Given the description of an element on the screen output the (x, y) to click on. 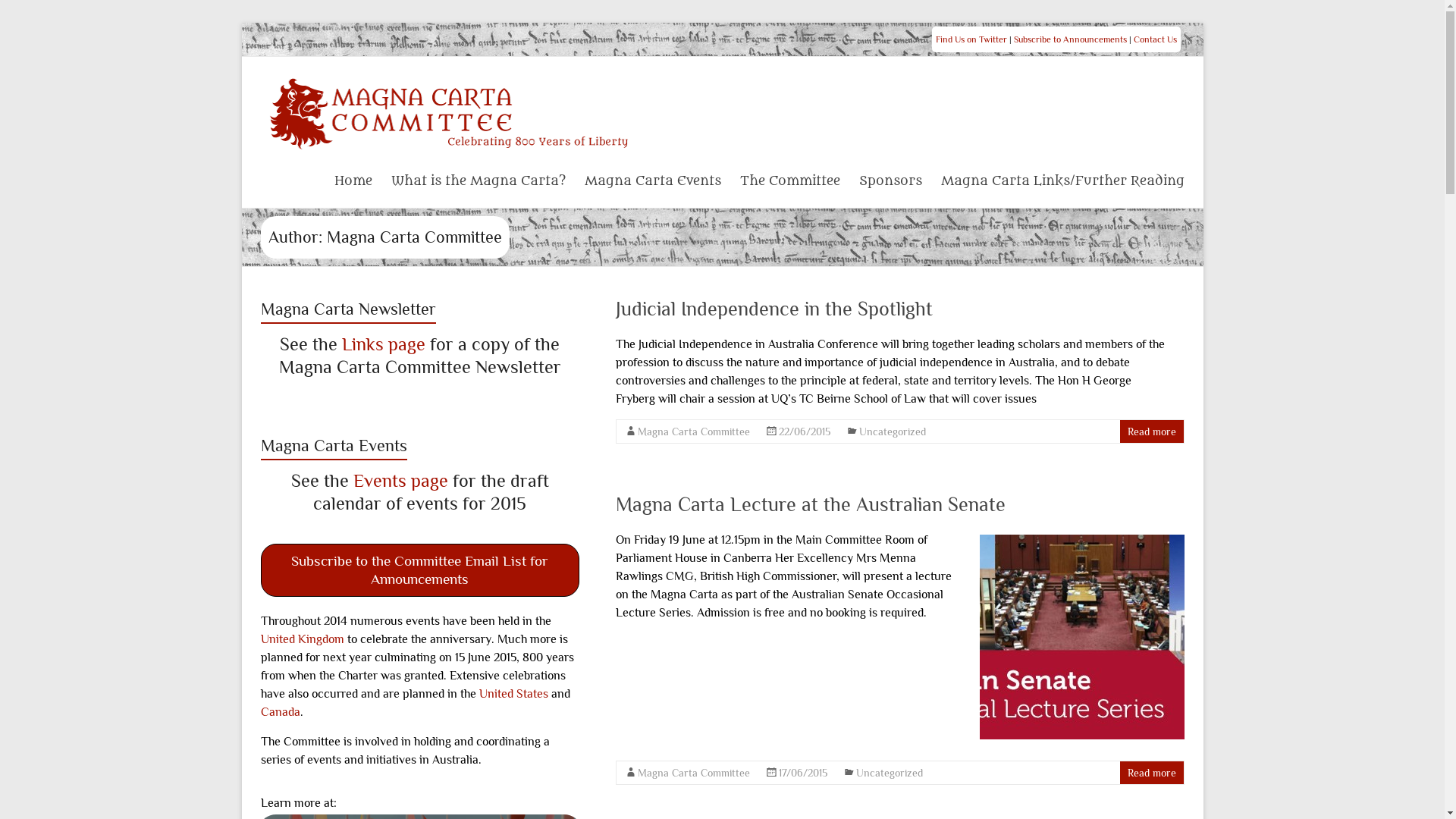
Magna Carta Committee Element type: text (693, 772)
What is the Magna Carta? Element type: text (478, 178)
Magna Carta Lecture at the Australian Senate Element type: text (810, 504)
Home Element type: text (352, 178)
United States Element type: text (513, 693)
Magna Carta Lecture at the Australian Senate Element type: hover (1081, 640)
Uncategorized Element type: text (888, 772)
Subscribe to Announcements Element type: text (1069, 39)
22/06/2015 Element type: text (803, 431)
Sponsors Element type: text (889, 178)
Read more Element type: text (1150, 431)
Magna Carta Lecture at the Australian Senate Element type: hover (1081, 634)
Events page Element type: text (400, 480)
Magna Carta Events Element type: text (651, 178)
Canada Element type: text (280, 711)
THE MAGNA CARTA COMMITTEE Element type: hover (450, 112)
Magna Carta Committee Element type: text (693, 431)
Read more Element type: text (1150, 772)
Uncategorized Element type: text (891, 431)
The Committee Element type: text (790, 178)
United Kingdom Element type: text (302, 639)
Subscribe to the Committee Email List for Announcements Element type: text (418, 570)
Links page Element type: text (383, 343)
17/06/2015 Element type: text (802, 772)
Magna Carta Links/Further Reading Element type: text (1061, 178)
Find Us on Twitter Element type: text (971, 39)
Contact Us Element type: text (1154, 39)
Judicial Independence in the Spotlight Element type: text (773, 309)
